Given the description of an element on the screen output the (x, y) to click on. 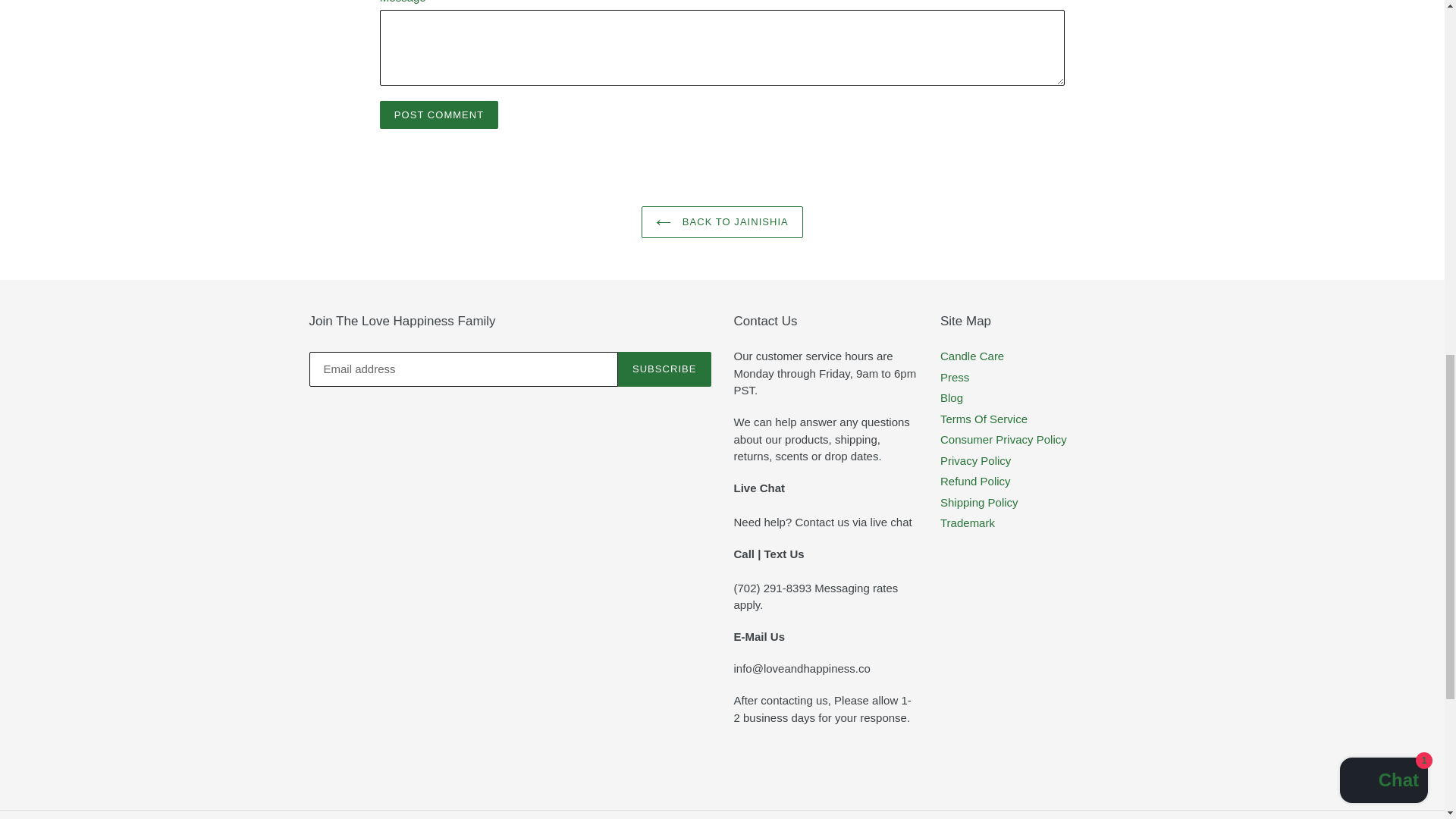
Post comment (438, 114)
Consumer Privacy Policy (1003, 439)
Privacy Policy (975, 460)
Blog (951, 397)
SUBSCRIBE (664, 369)
Press (954, 377)
BACK TO JAINISHIA (722, 222)
Trademark (967, 522)
Terms Of Service (983, 418)
Post comment (438, 114)
Refund Policy (975, 481)
Shipping Policy (978, 502)
Candle Care (972, 355)
